Given the description of an element on the screen output the (x, y) to click on. 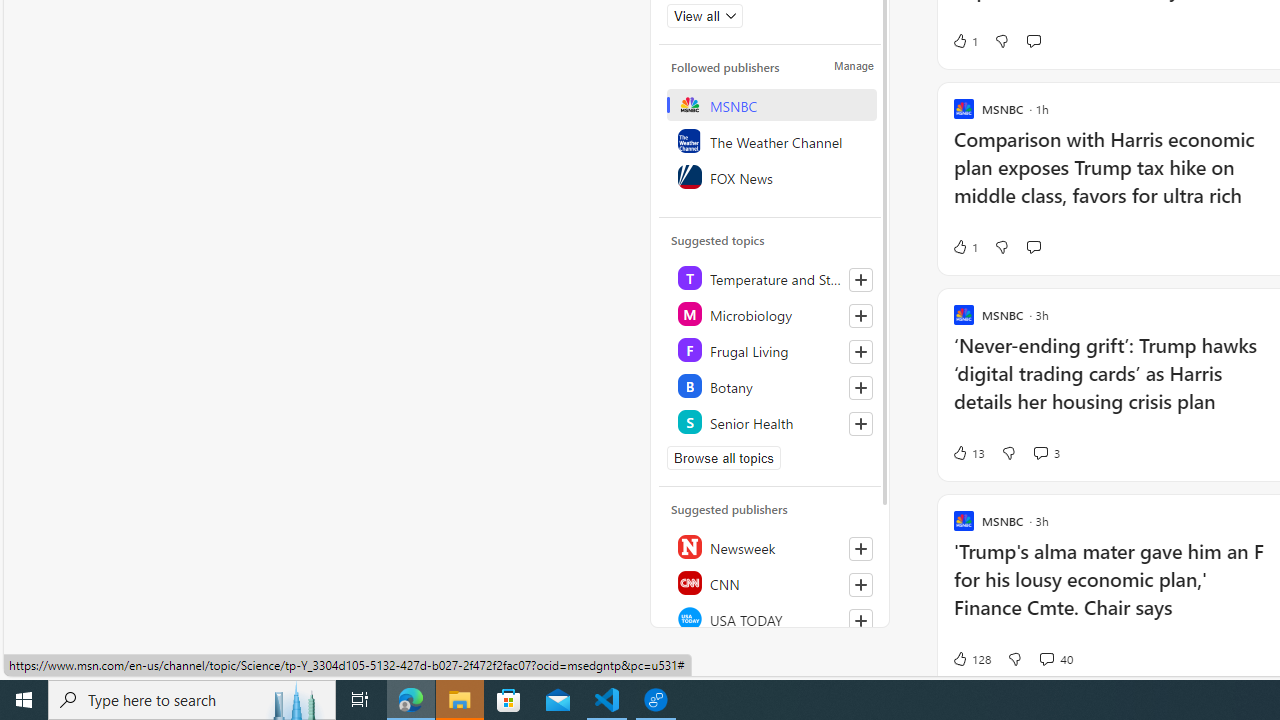
View comments 3 Comment (1040, 452)
Manage (854, 65)
CNN (771, 583)
The Weather Channel (771, 140)
View all (704, 16)
Class: highlight (771, 421)
View comments 40 Comment (1046, 658)
View comments 40 Comment (1055, 659)
Follow this topic (860, 423)
13 Like (968, 452)
USA TODAY (771, 619)
Follow this source (860, 620)
